Given the description of an element on the screen output the (x, y) to click on. 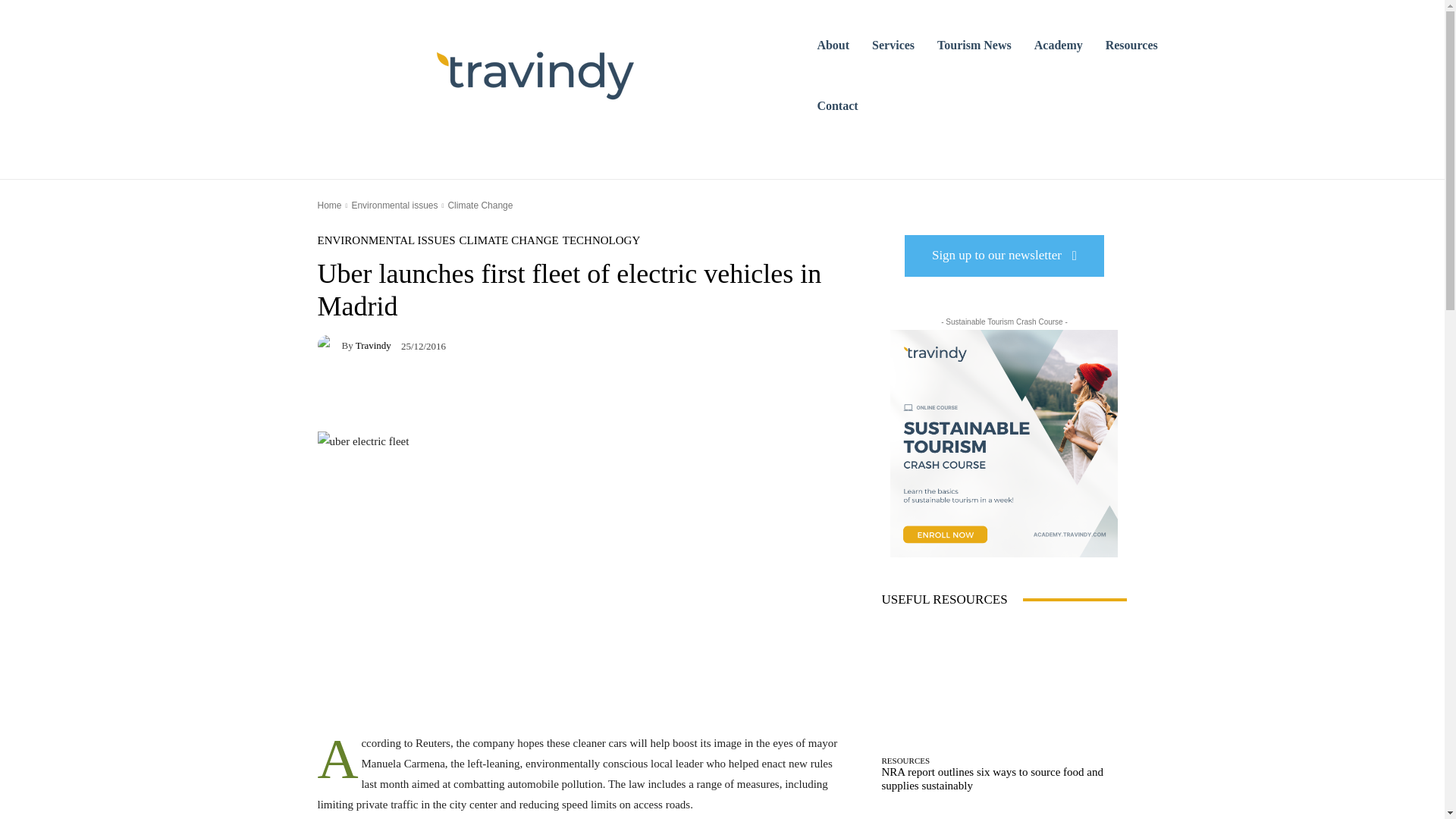
View all posts in Climate Change (479, 204)
View all posts in Environmental issues (394, 204)
Travindy (328, 344)
Travindy logo (535, 75)
Services (892, 45)
